Given the description of an element on the screen output the (x, y) to click on. 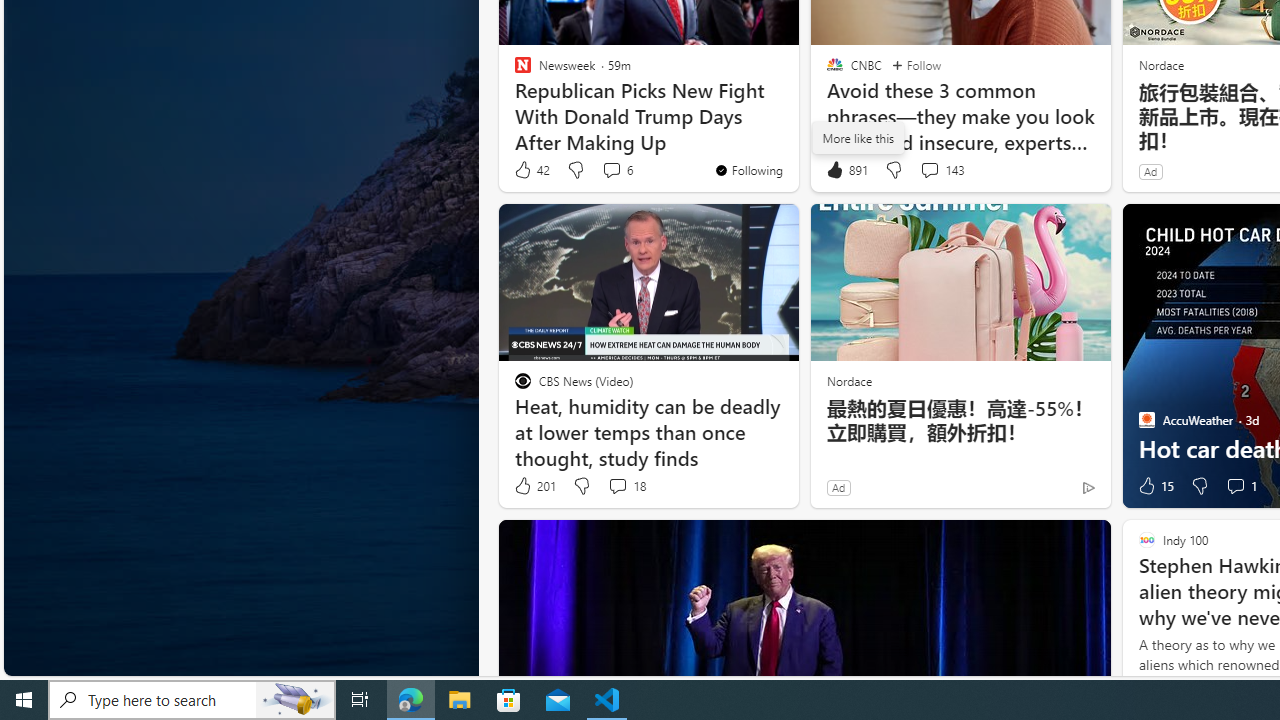
View comments 6 Comment (611, 169)
42 Like (531, 170)
